Given the description of an element on the screen output the (x, y) to click on. 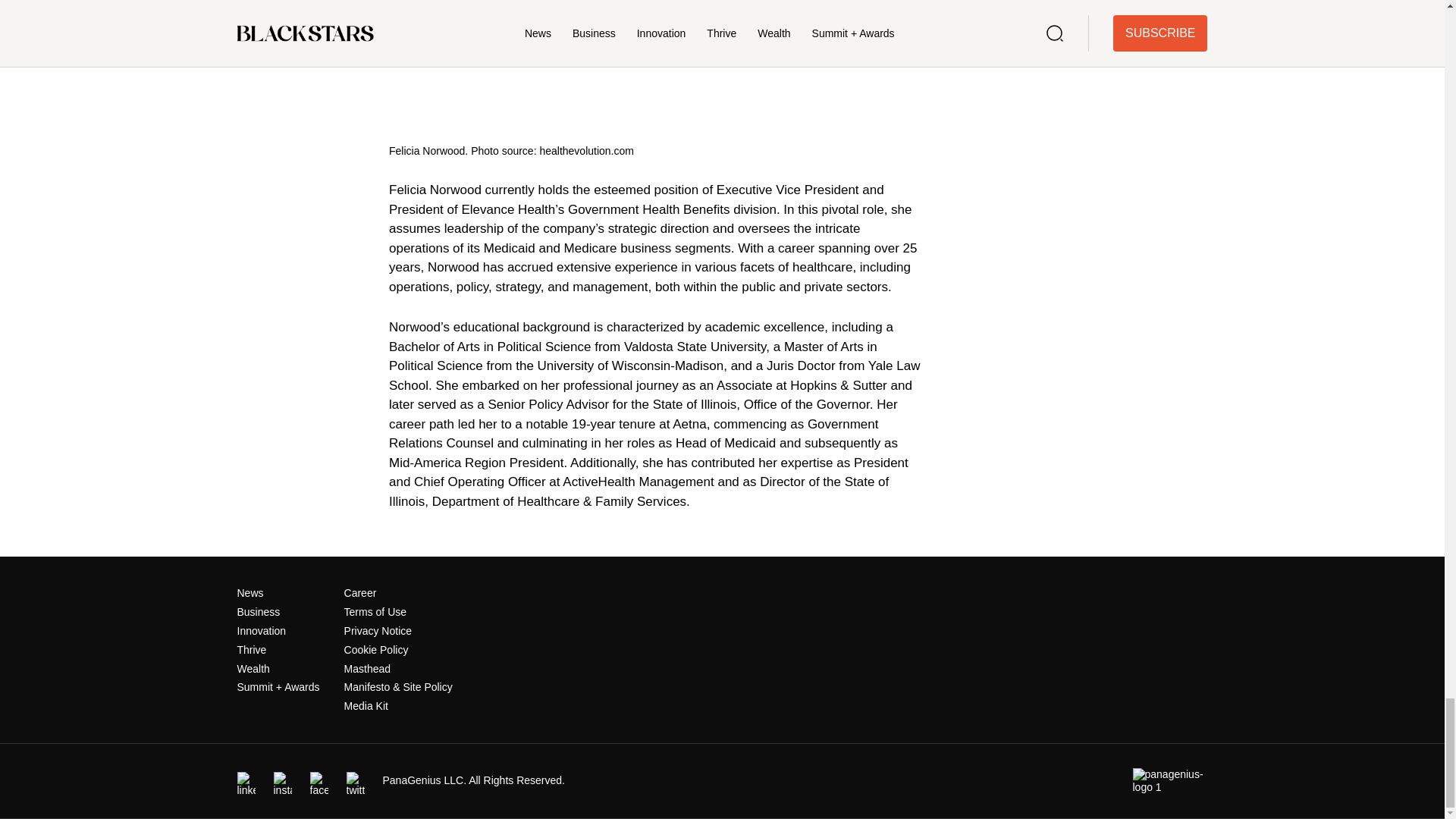
Thrive (250, 649)
Masthead (366, 668)
Cookie Policy (376, 649)
News (249, 592)
Terms of Use (374, 612)
Innovation (260, 630)
Wealth (252, 668)
Career (360, 592)
Privacy Notice (377, 630)
Media Kit (365, 705)
